Given the description of an element on the screen output the (x, y) to click on. 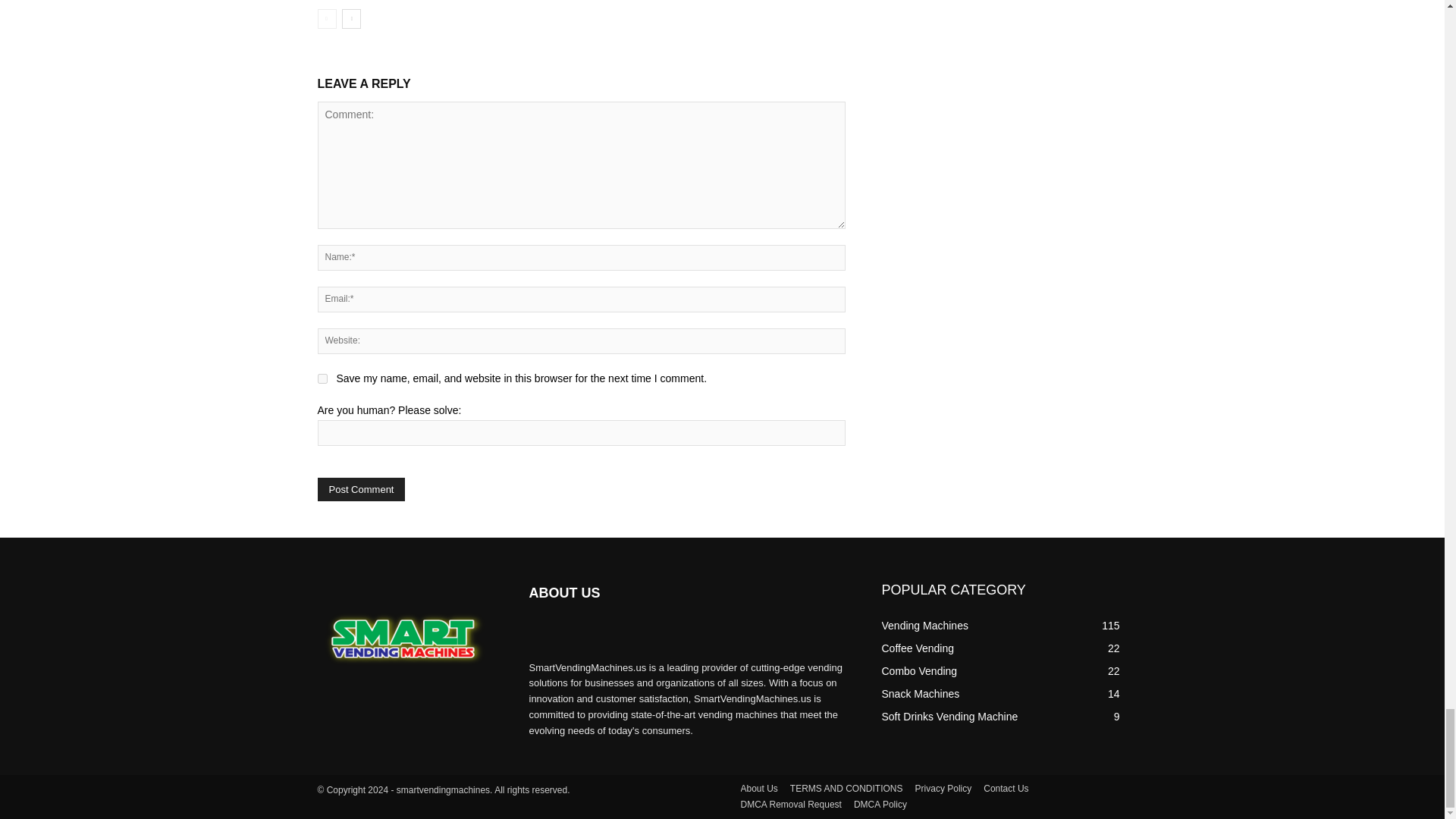
Post Comment (360, 489)
yes (321, 378)
